Given the description of an element on the screen output the (x, y) to click on. 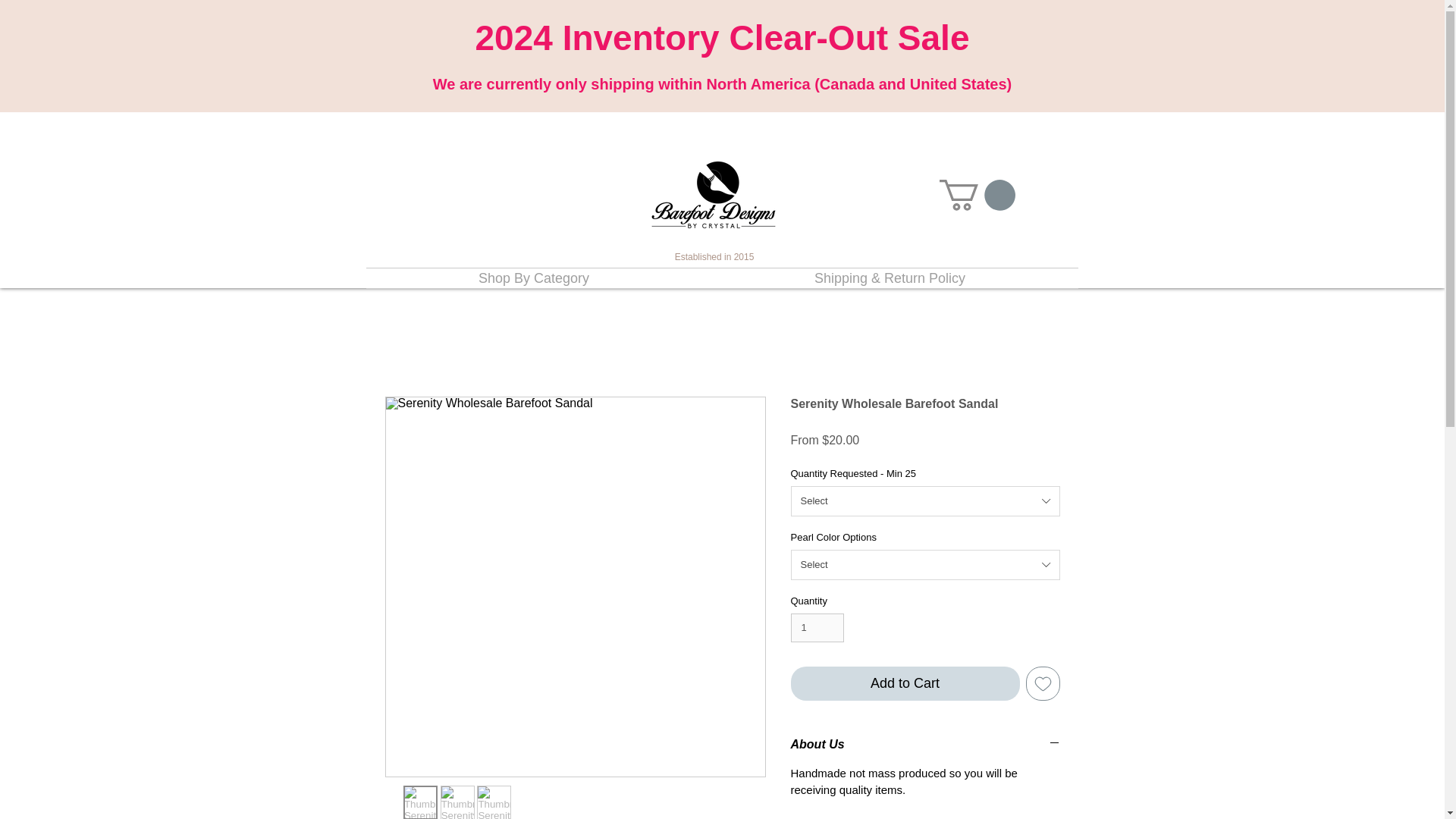
Select (924, 501)
Add to Cart (904, 683)
About Us (924, 744)
Select (924, 564)
1 (817, 627)
